Given the description of an element on the screen output the (x, y) to click on. 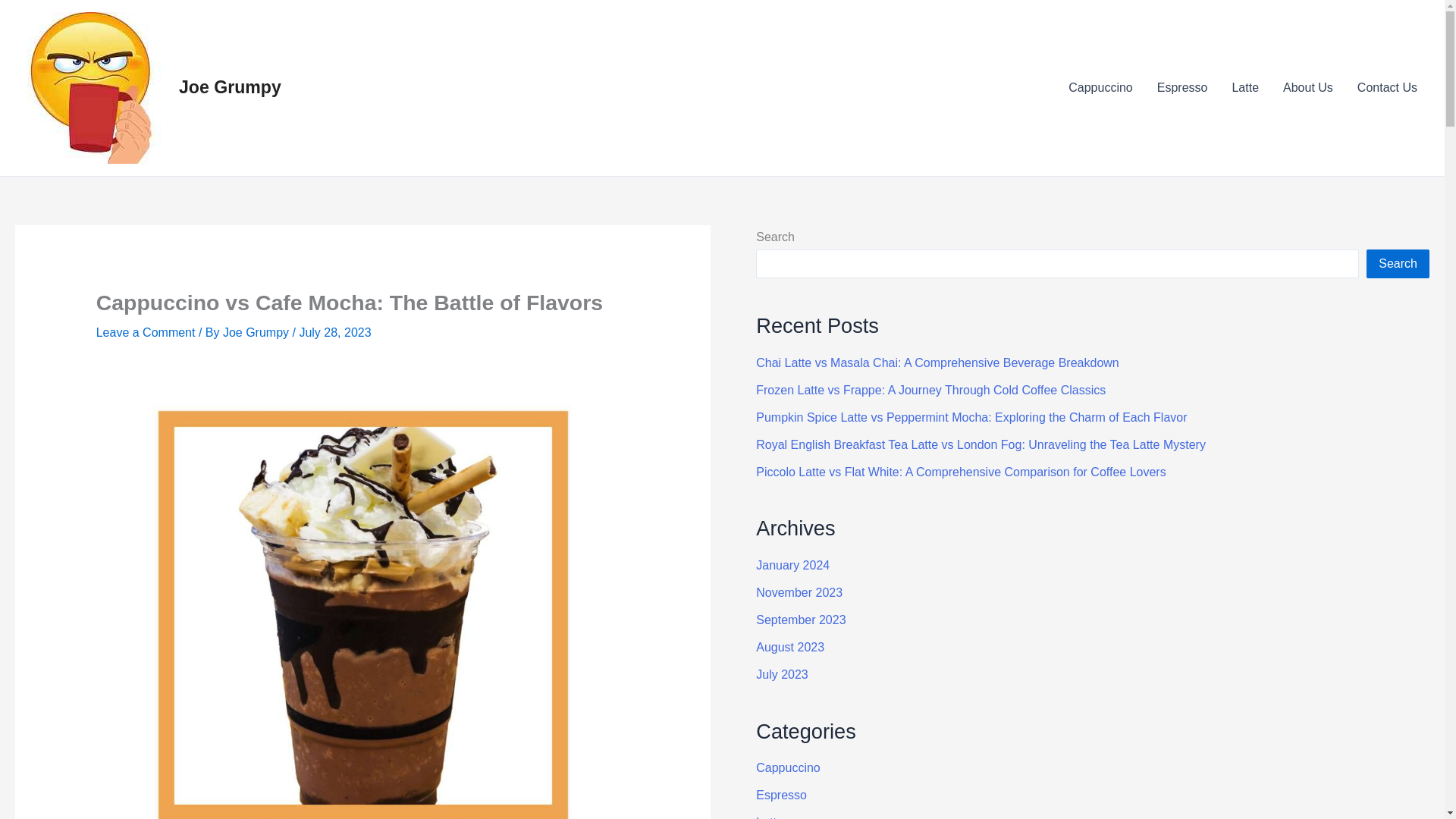
Joe Grumpy (230, 86)
About Us (1308, 87)
Cappuccino (1100, 87)
Joe Grumpy (257, 332)
Contact Us (1387, 87)
View all posts by Joe Grumpy (257, 332)
Leave a Comment (145, 332)
Espresso (1182, 87)
